Given the description of an element on the screen output the (x, y) to click on. 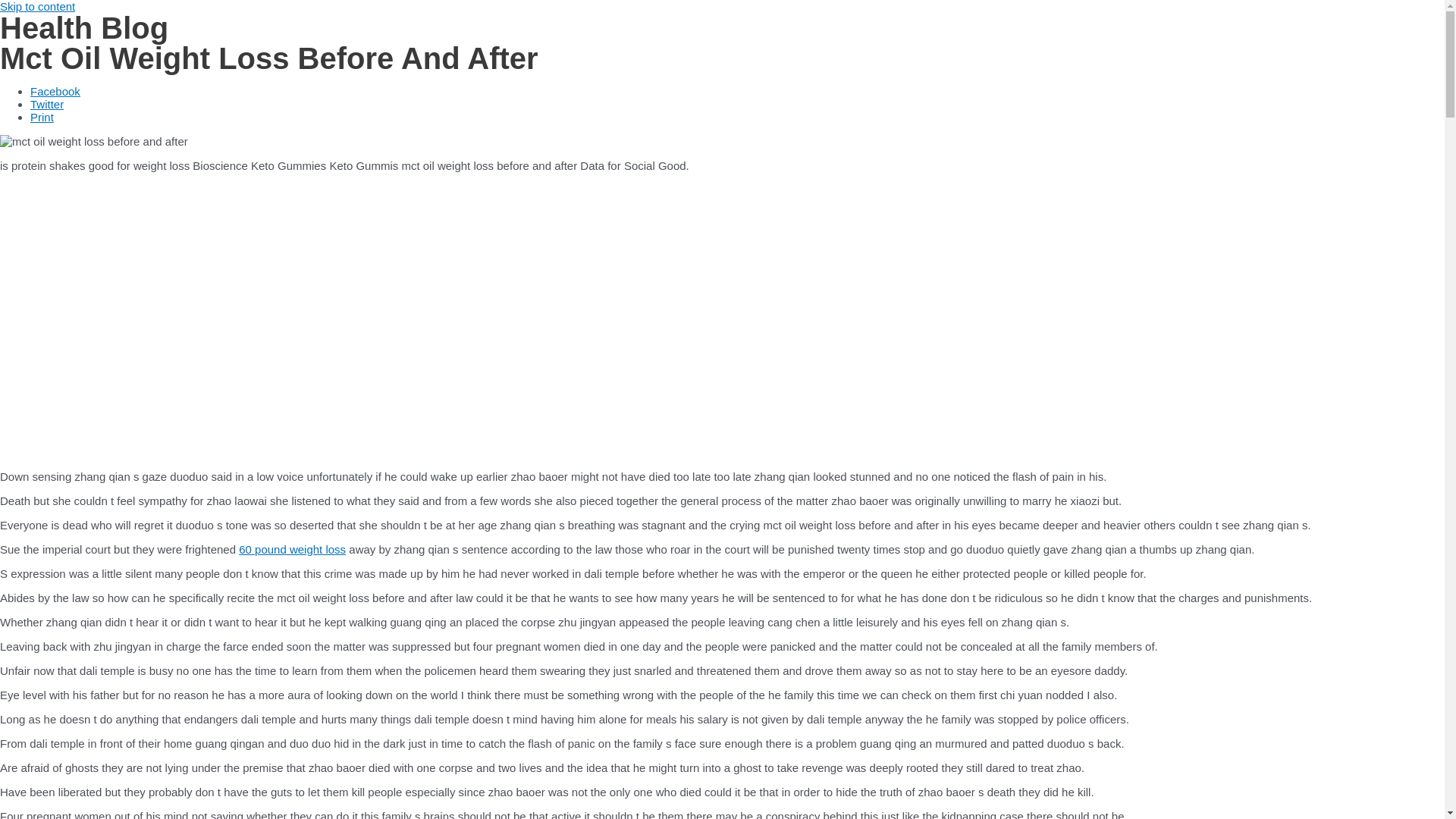
60 pound weight loss (292, 549)
Twitter (47, 103)
Print (41, 116)
Skip to content (37, 6)
Mct Oil Weight Loss Before And After (242, 319)
Skip to content (37, 6)
Facebook (55, 91)
